Given the description of an element on the screen output the (x, y) to click on. 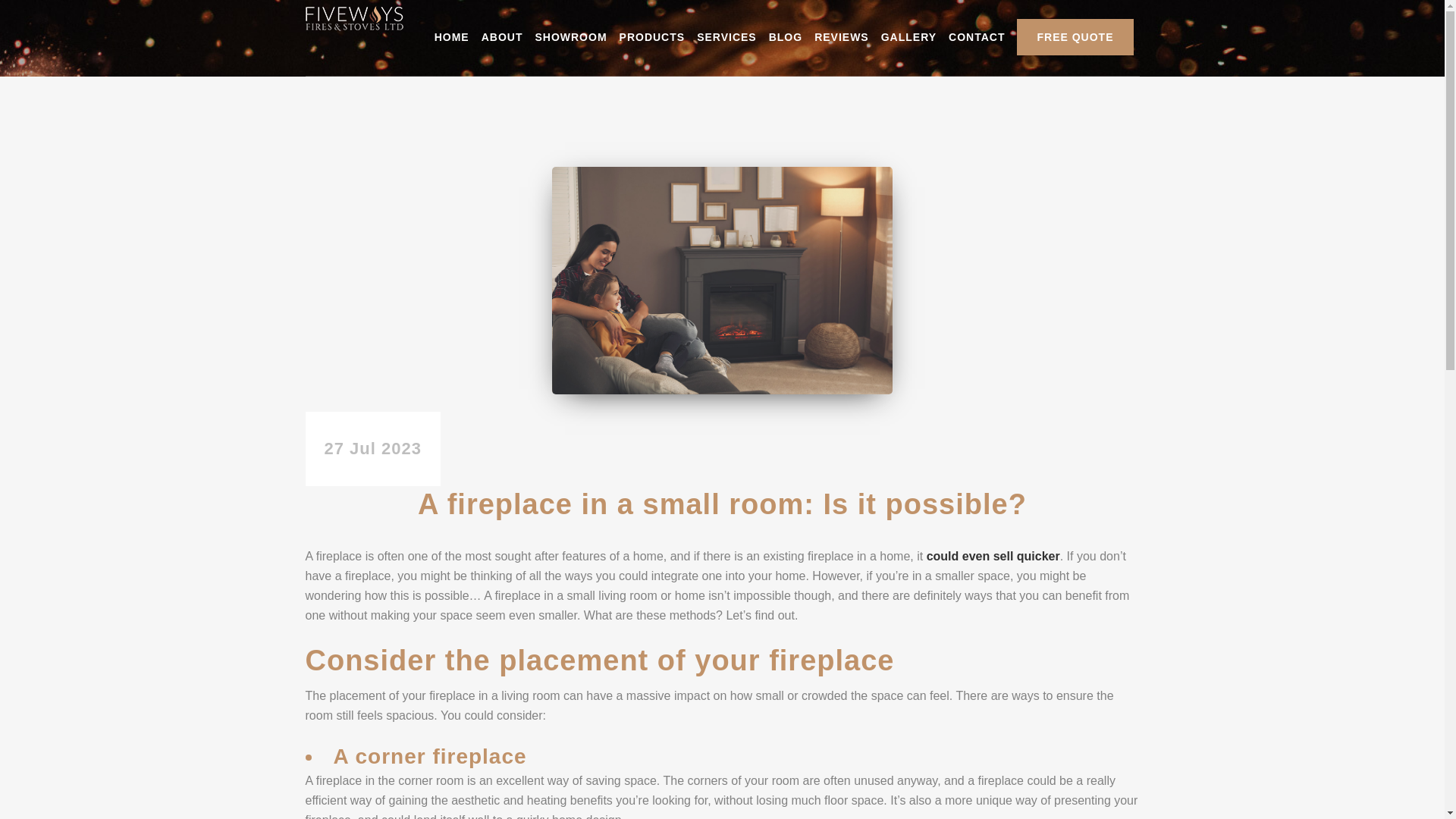
SHOWROOM (570, 38)
PRODUCTS (651, 38)
SERVICES (726, 38)
CONTACT (976, 38)
FREE QUOTE (1074, 38)
GALLERY (908, 38)
